Given the description of an element on the screen output the (x, y) to click on. 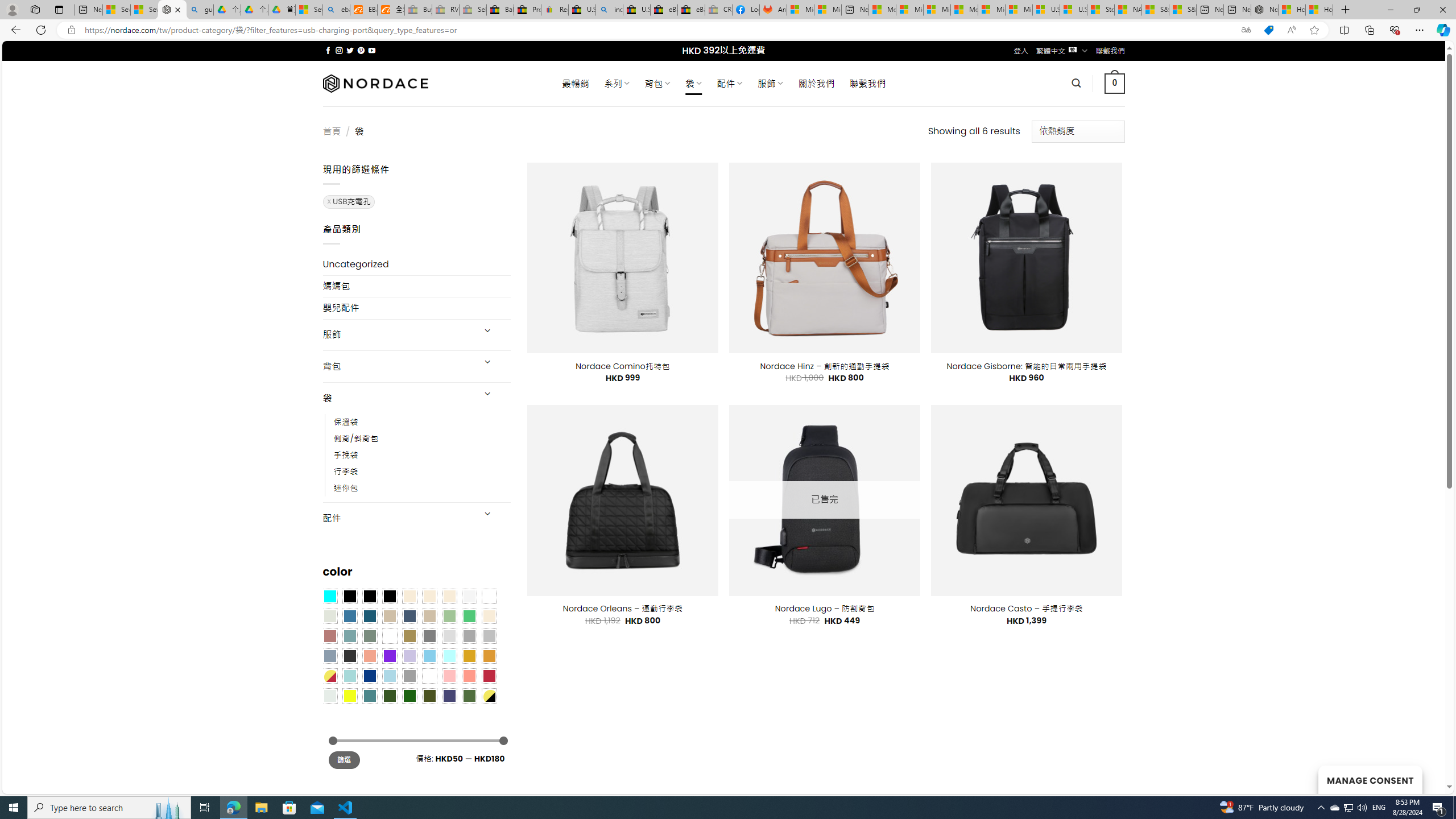
Baby Keepsakes & Announcements for sale | eBay (499, 9)
